Given the description of an element on the screen output the (x, y) to click on. 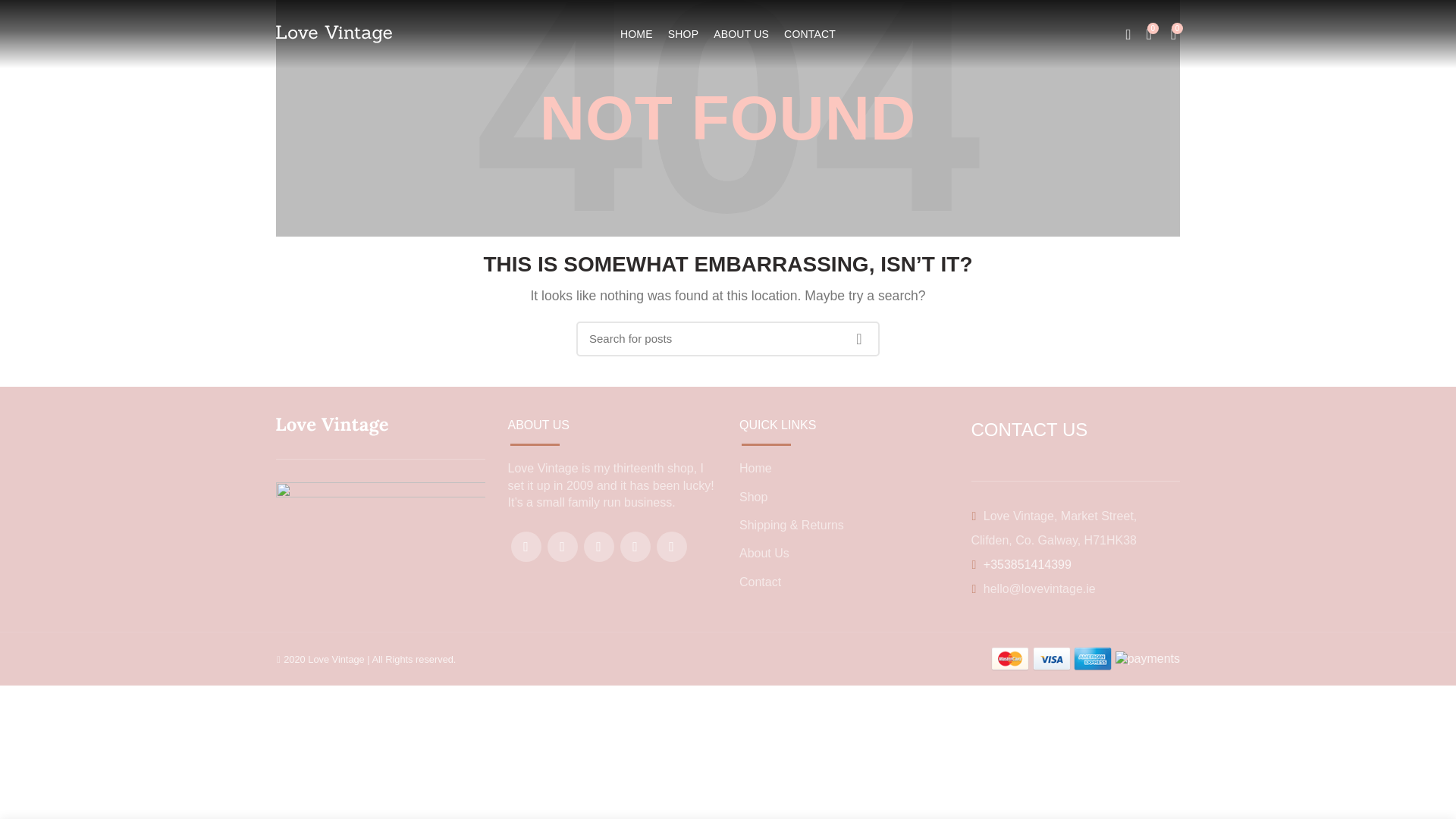
Facebook (526, 546)
Contact (759, 581)
Pinterest (671, 546)
ABOUT US (741, 33)
Instagram (598, 546)
YouTube (635, 546)
SEARCH (858, 338)
HOME (636, 33)
Home (755, 468)
CONTACT (809, 33)
